Given the description of an element on the screen output the (x, y) to click on. 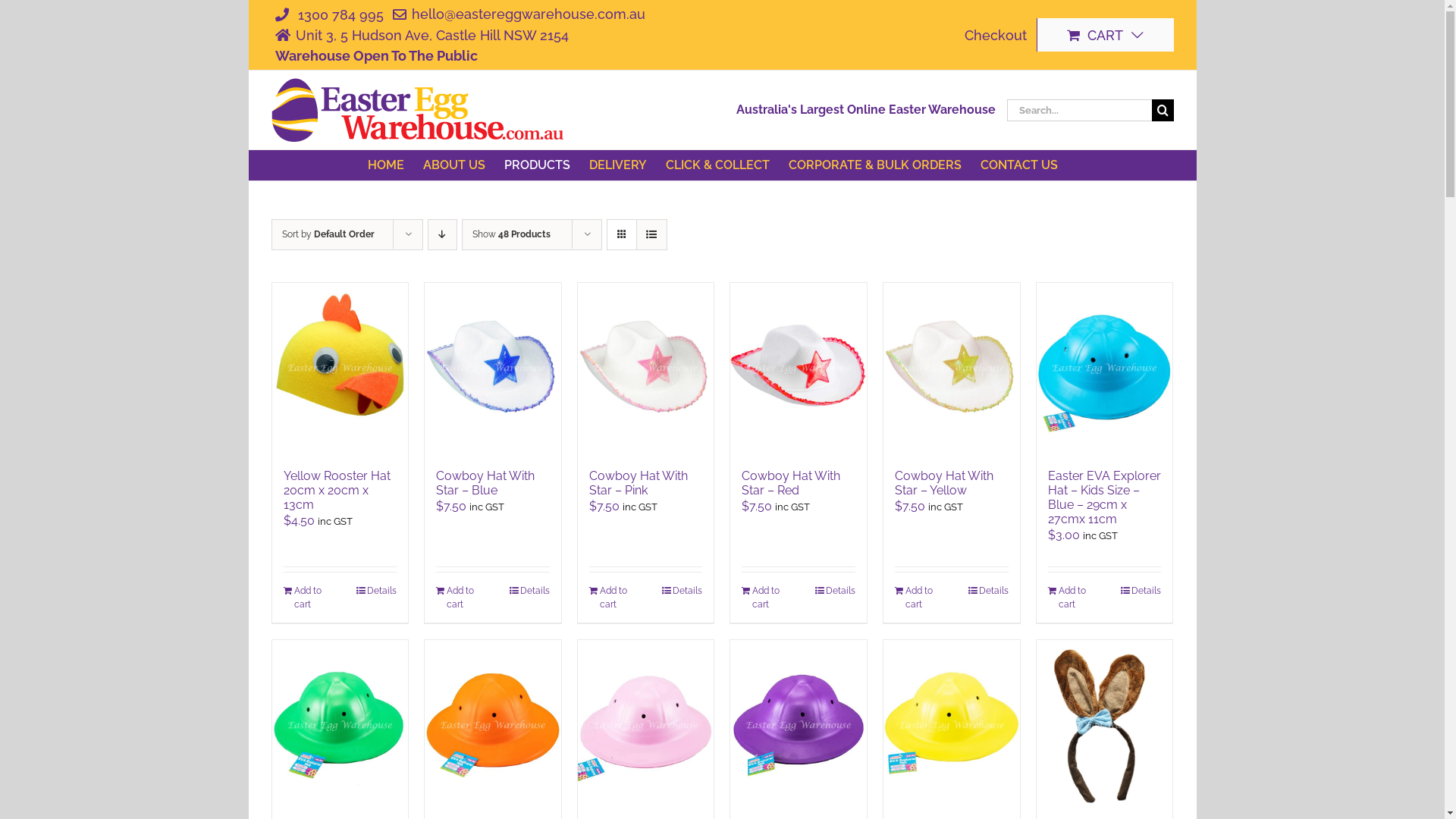
Add to cart Element type: text (310, 597)
Add to cart Element type: text (922, 597)
Yellow Rooster Hat 20cm x 20cm x 13cm Element type: text (336, 489)
Sort by Default Order Element type: text (328, 234)
CLICK & COLLECT Element type: text (717, 165)
Add to cart Element type: text (463, 597)
Show 48 Products Element type: text (510, 234)
Details Element type: text (682, 590)
PRODUCTS Element type: text (537, 165)
CART Element type: text (1105, 34)
HOME Element type: text (385, 165)
Checkout Element type: text (994, 34)
CORPORATE & BULK ORDERS Element type: text (874, 165)
Details Element type: text (1140, 590)
CONTACT US Element type: text (1018, 165)
ABOUT US Element type: text (454, 165)
Add to cart Element type: text (1075, 597)
Details Element type: text (529, 590)
Add to cart Element type: text (616, 597)
Details Element type: text (988, 590)
Add to cart Element type: text (769, 597)
DELIVERY Element type: text (617, 165)
hello@eastereggwarehouse.com.au Element type: text (515, 13)
Details Element type: text (376, 590)
Details Element type: text (835, 590)
